Given the description of an element on the screen output the (x, y) to click on. 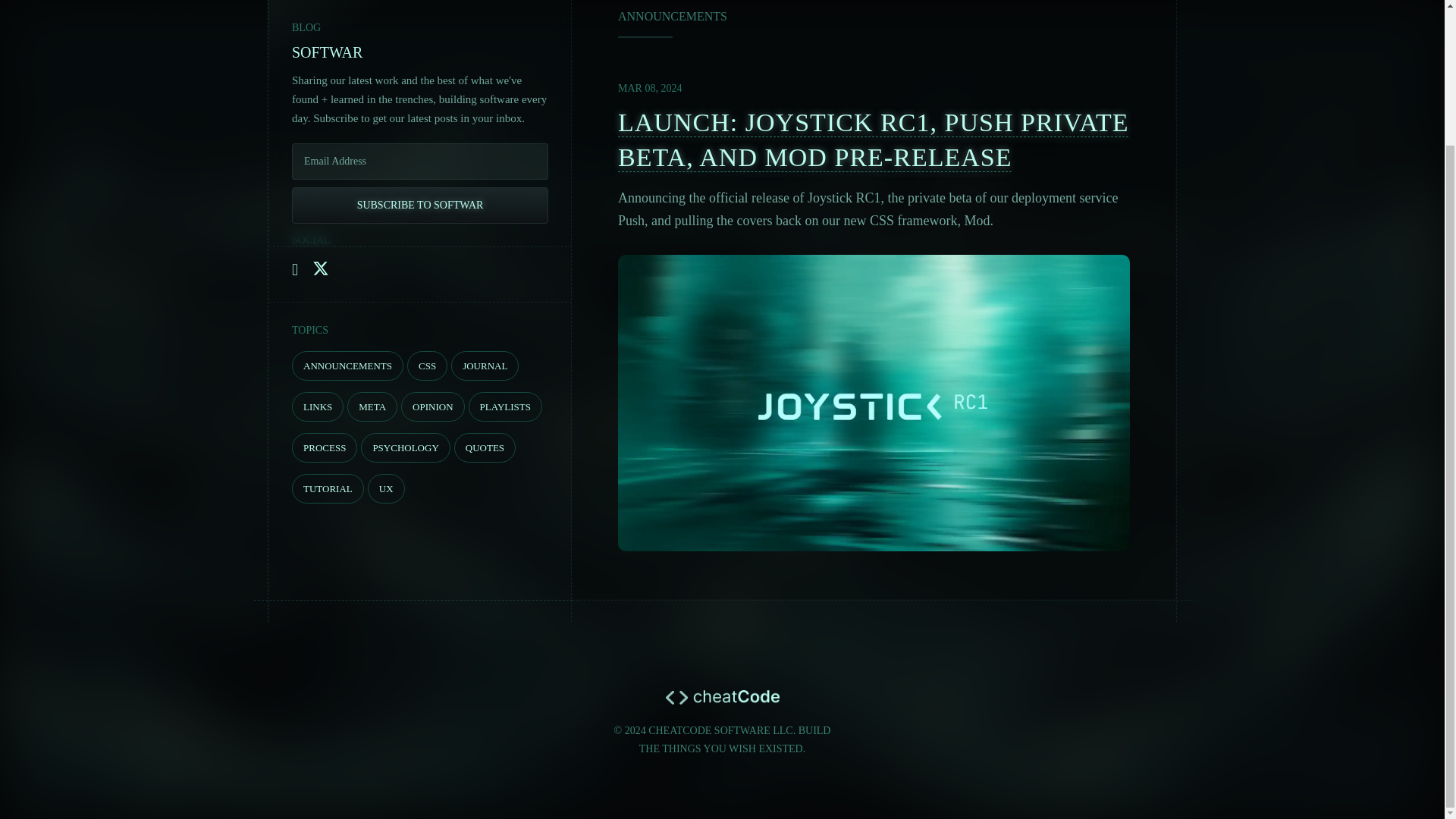
PROCESS (324, 447)
QUOTES (484, 447)
LINKS (317, 406)
LAUNCH: JOYSTICK RC1, PUSH PRIVATE BETA, AND MOD PRE-RELEASE (873, 139)
UX (386, 488)
META (372, 406)
PLAYLISTS (504, 406)
SUBSCRIBE TO SOFTWAR (420, 170)
ANNOUNCEMENTS (347, 365)
PSYCHOLOGY (405, 447)
CSS (426, 365)
OPINION (432, 406)
x (321, 268)
JOURNAL (484, 365)
TUTORIAL (328, 488)
